Given the description of an element on the screen output the (x, y) to click on. 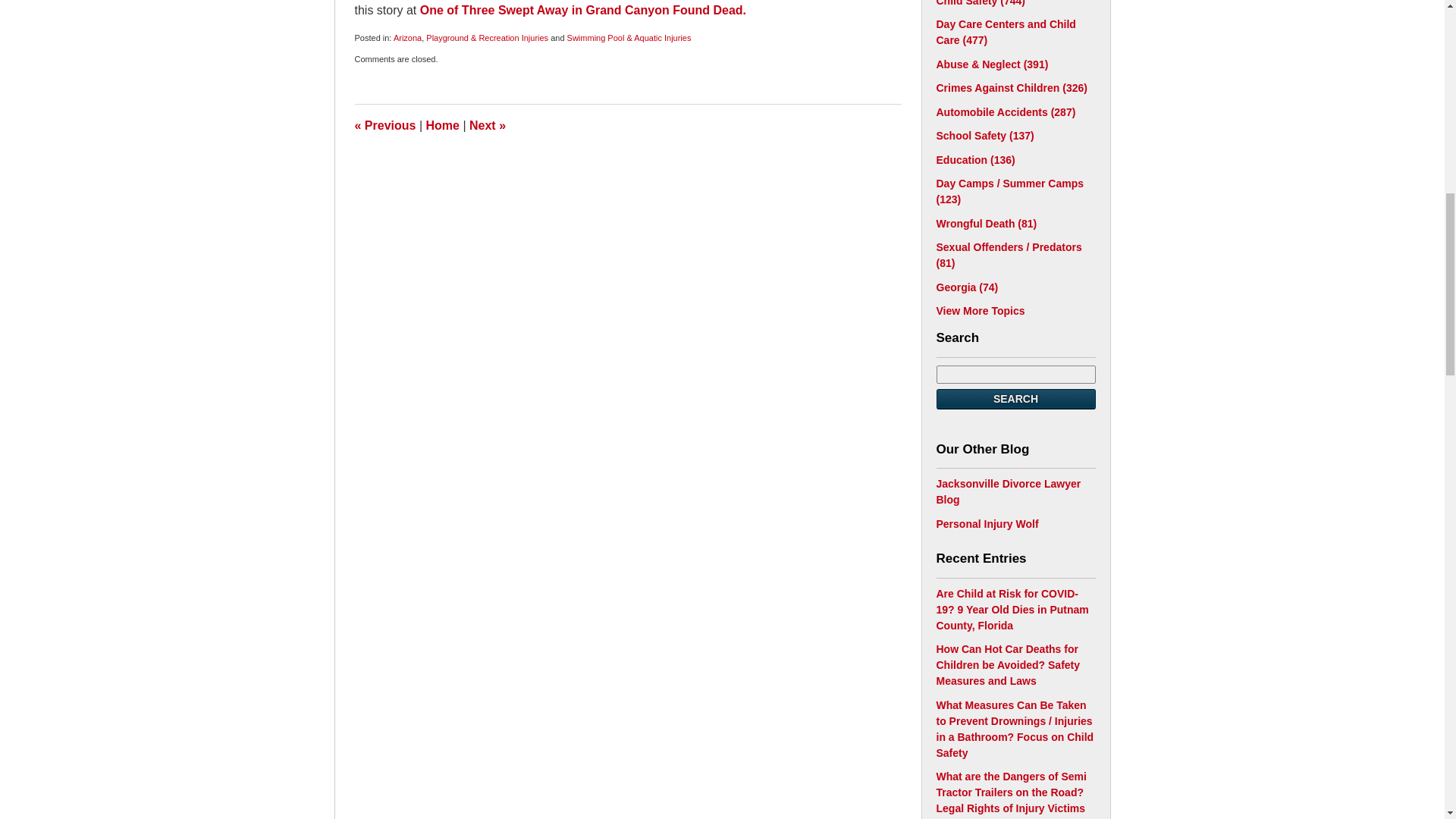
One of Three Swept Away in Grand Canyon Found Dead. (582, 10)
Arizona (407, 37)
Home (443, 124)
View all posts in Arizona (407, 37)
